Given the description of an element on the screen output the (x, y) to click on. 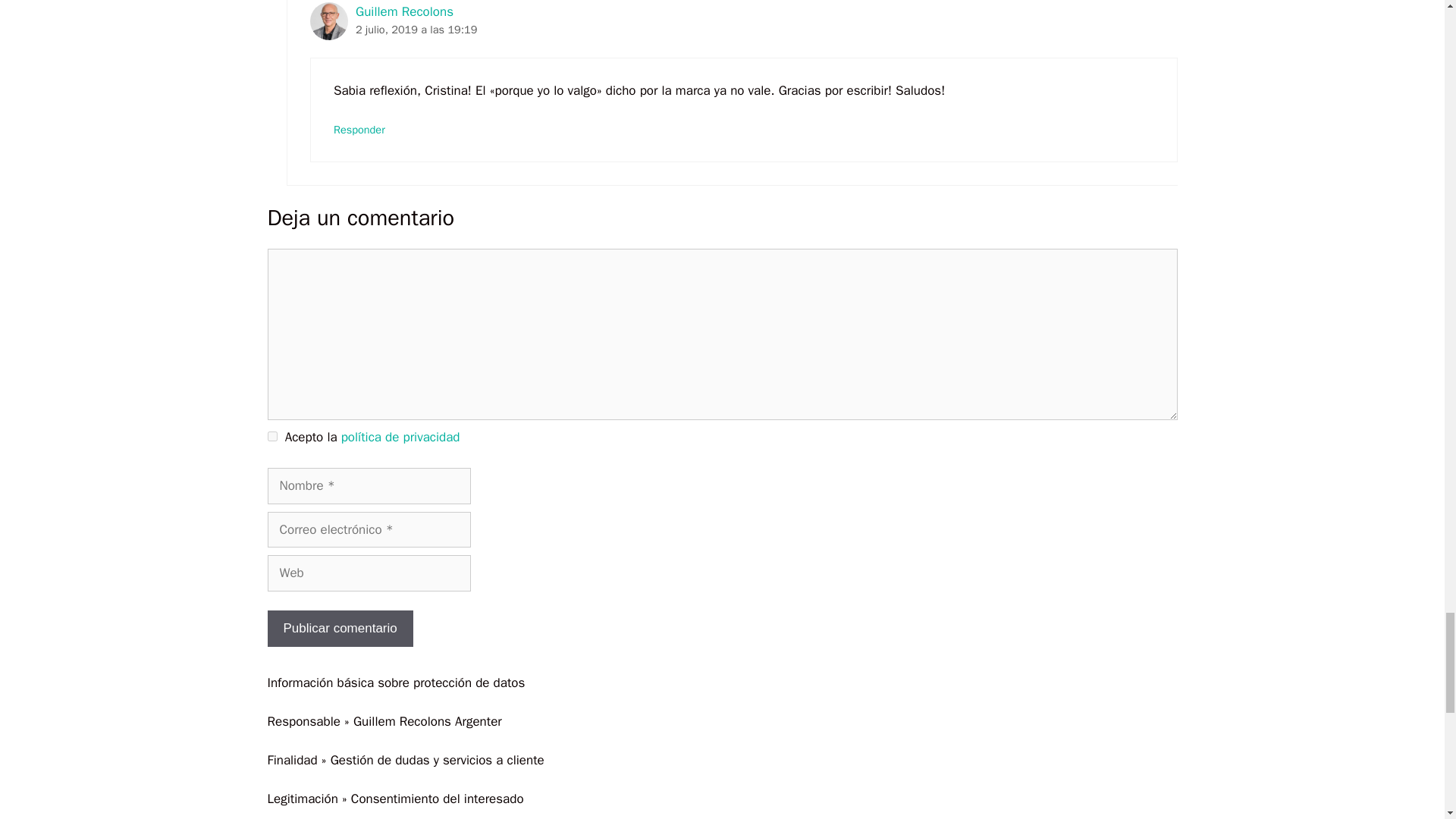
privacy-key (271, 436)
Publicar comentario (339, 628)
